Given the description of an element on the screen output the (x, y) to click on. 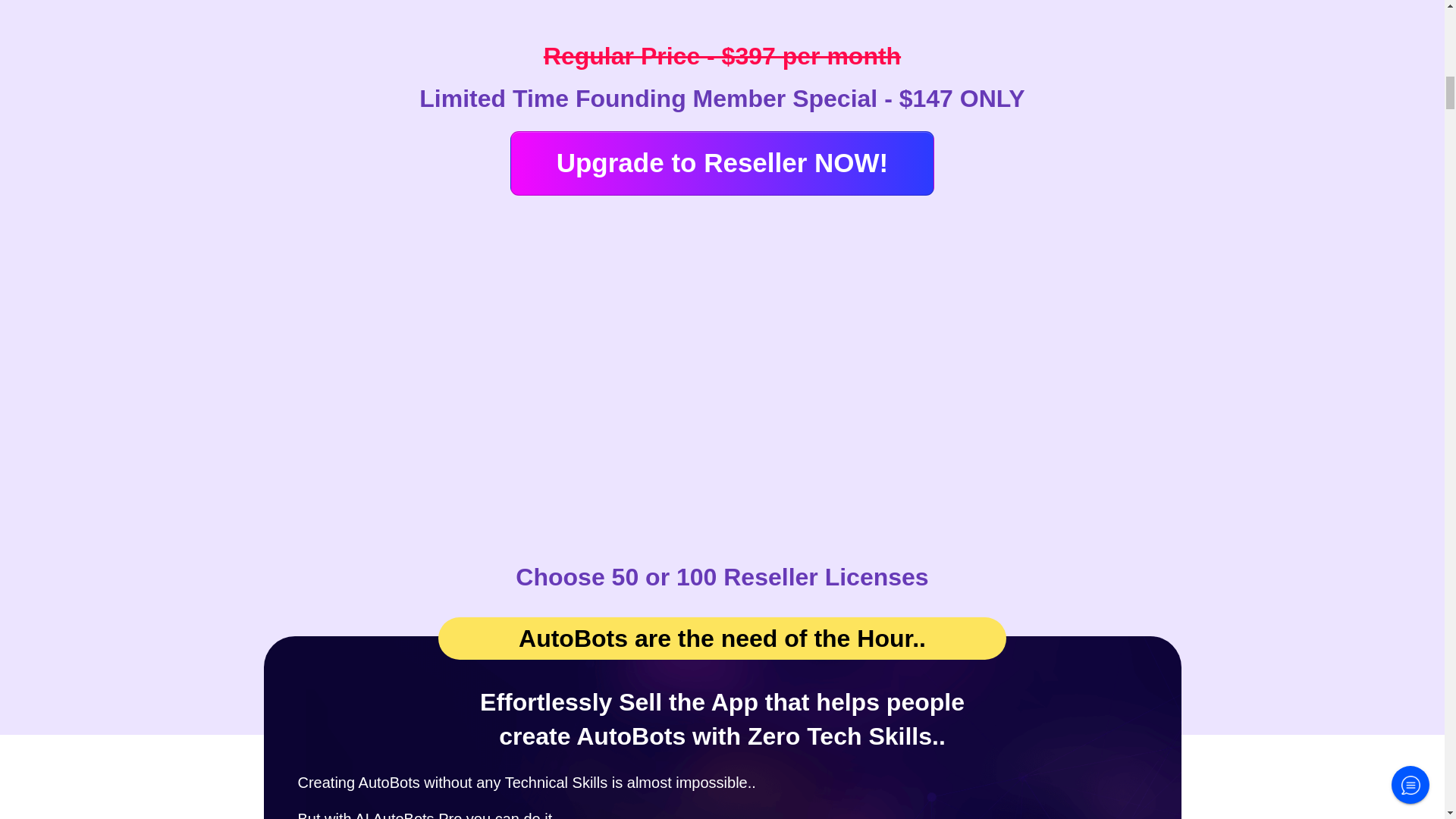
Upgrade to Reseller NOW! (722, 163)
